Given the description of an element on the screen output the (x, y) to click on. 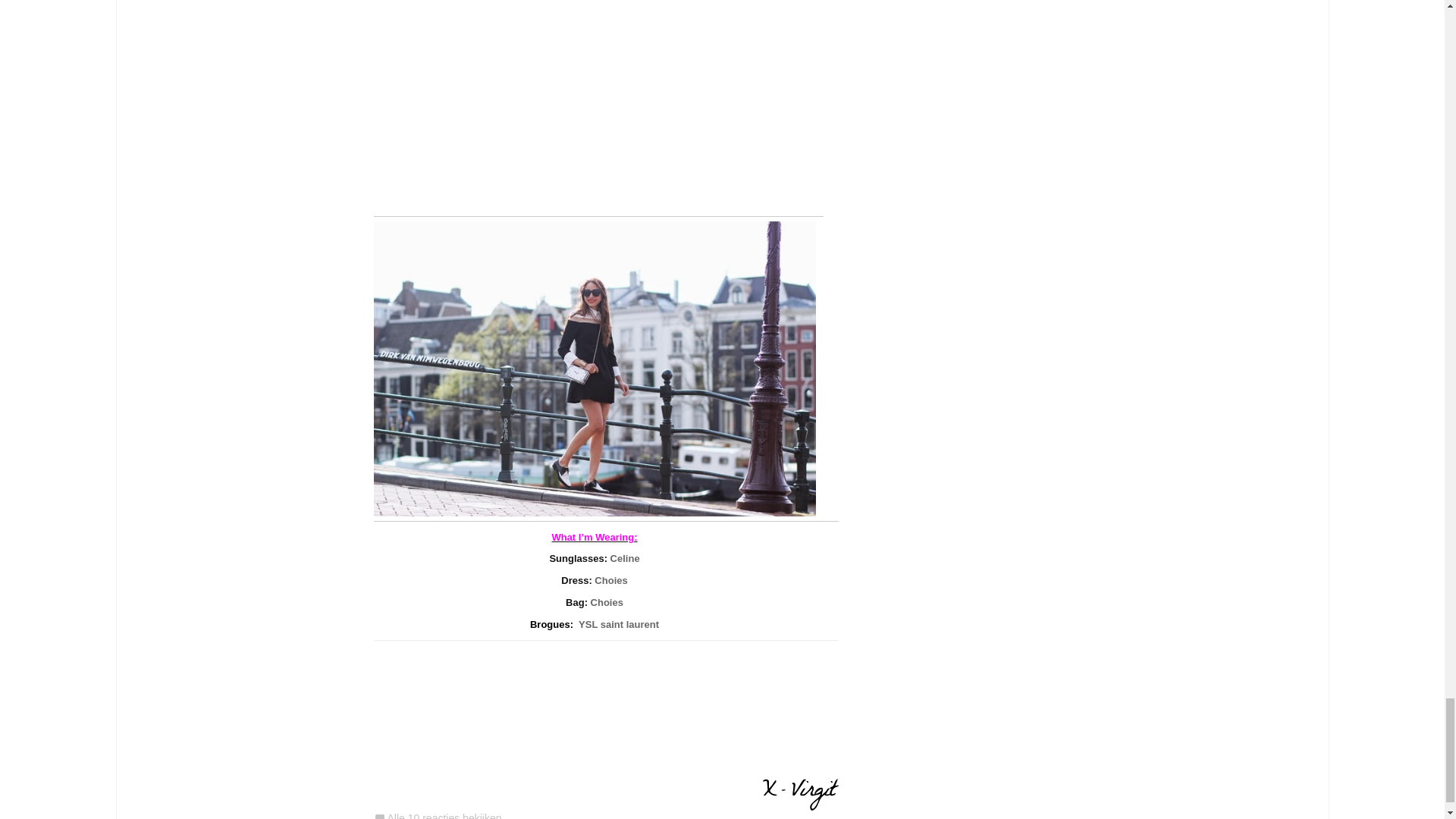
Choies (607, 602)
Choies (610, 580)
YSL saint laurent (618, 624)
Celine (625, 558)
